Given the description of an element on the screen output the (x, y) to click on. 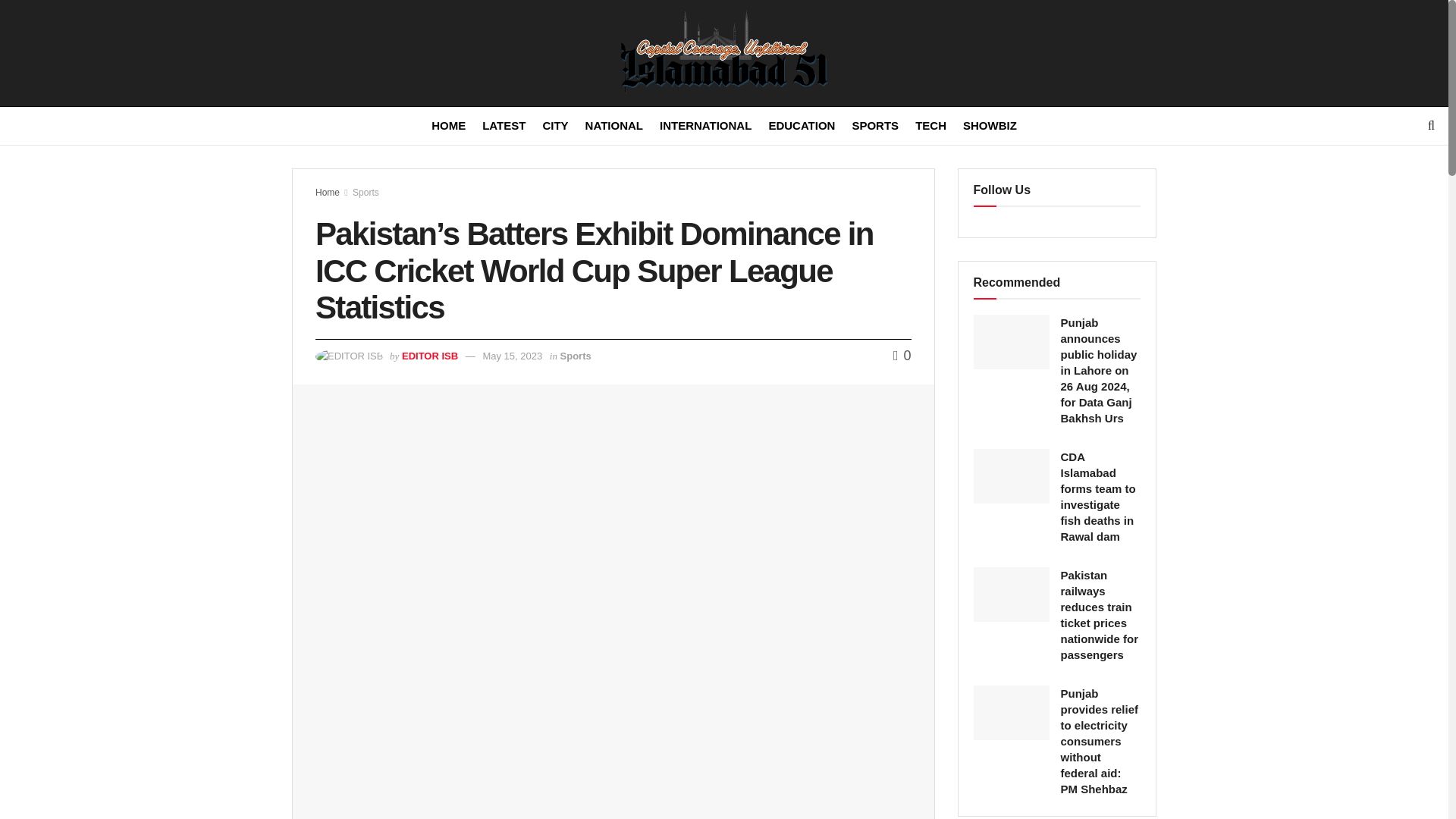
CITY (554, 125)
INTERNATIONAL (705, 125)
Sports (575, 355)
HOME (447, 125)
EDUCATION (801, 125)
SPORTS (874, 125)
May 15, 2023 (511, 355)
0 (902, 355)
Home (327, 192)
LATEST (503, 125)
